Given the description of an element on the screen output the (x, y) to click on. 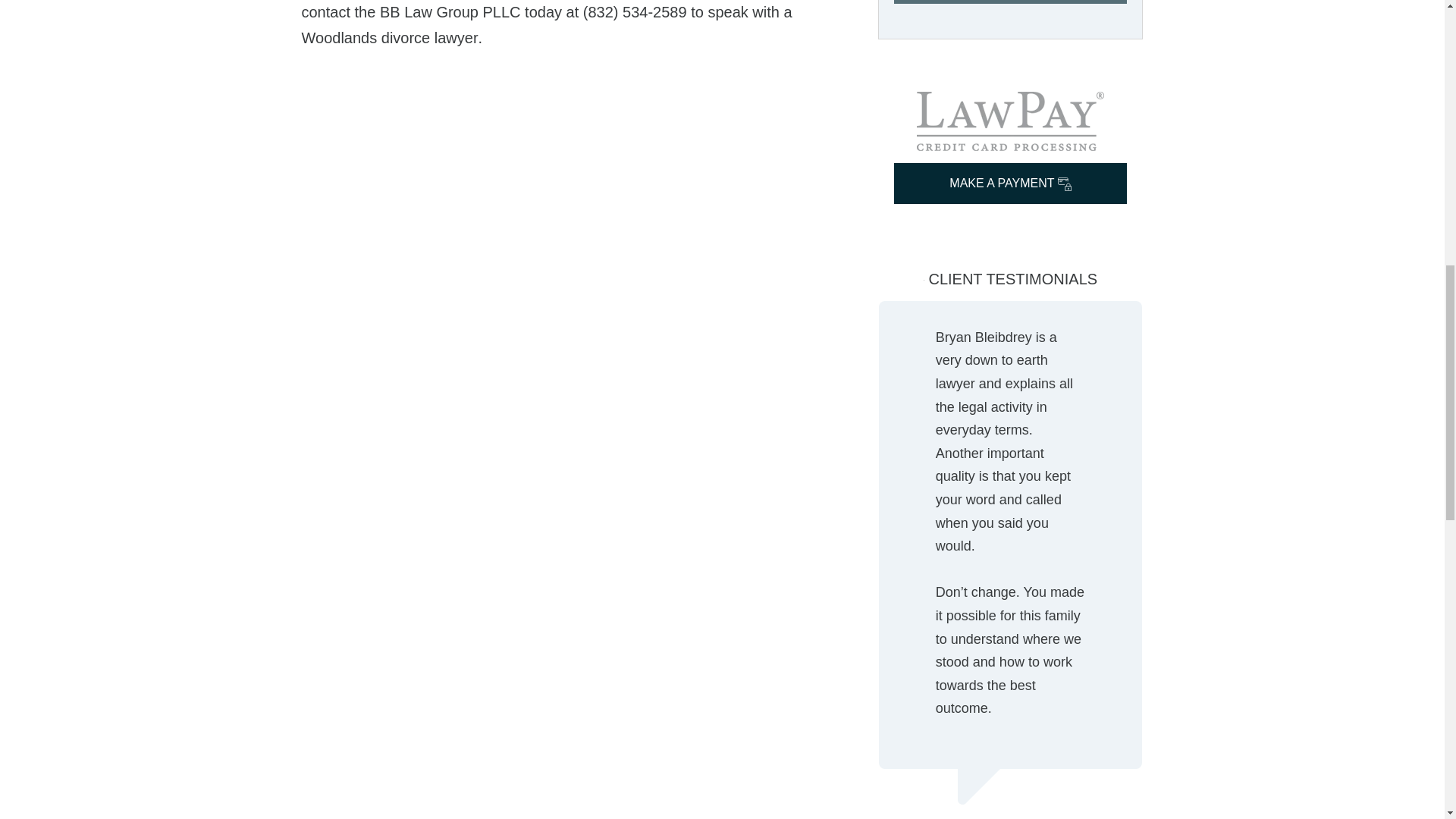
MAKE A PAYMENT (1009, 182)
